Given the description of an element on the screen output the (x, y) to click on. 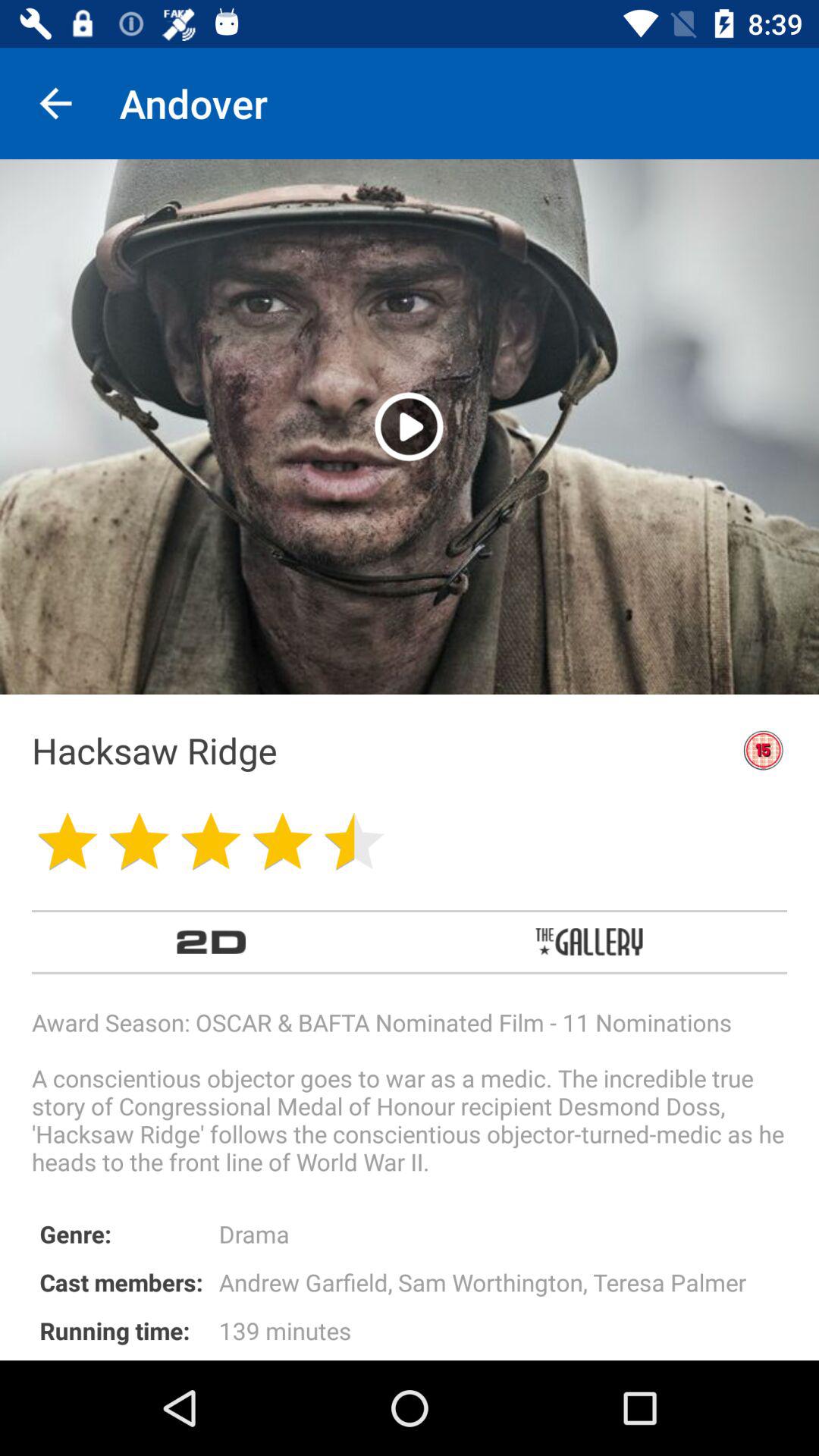
play (408, 426)
